Given the description of an element on the screen output the (x, y) to click on. 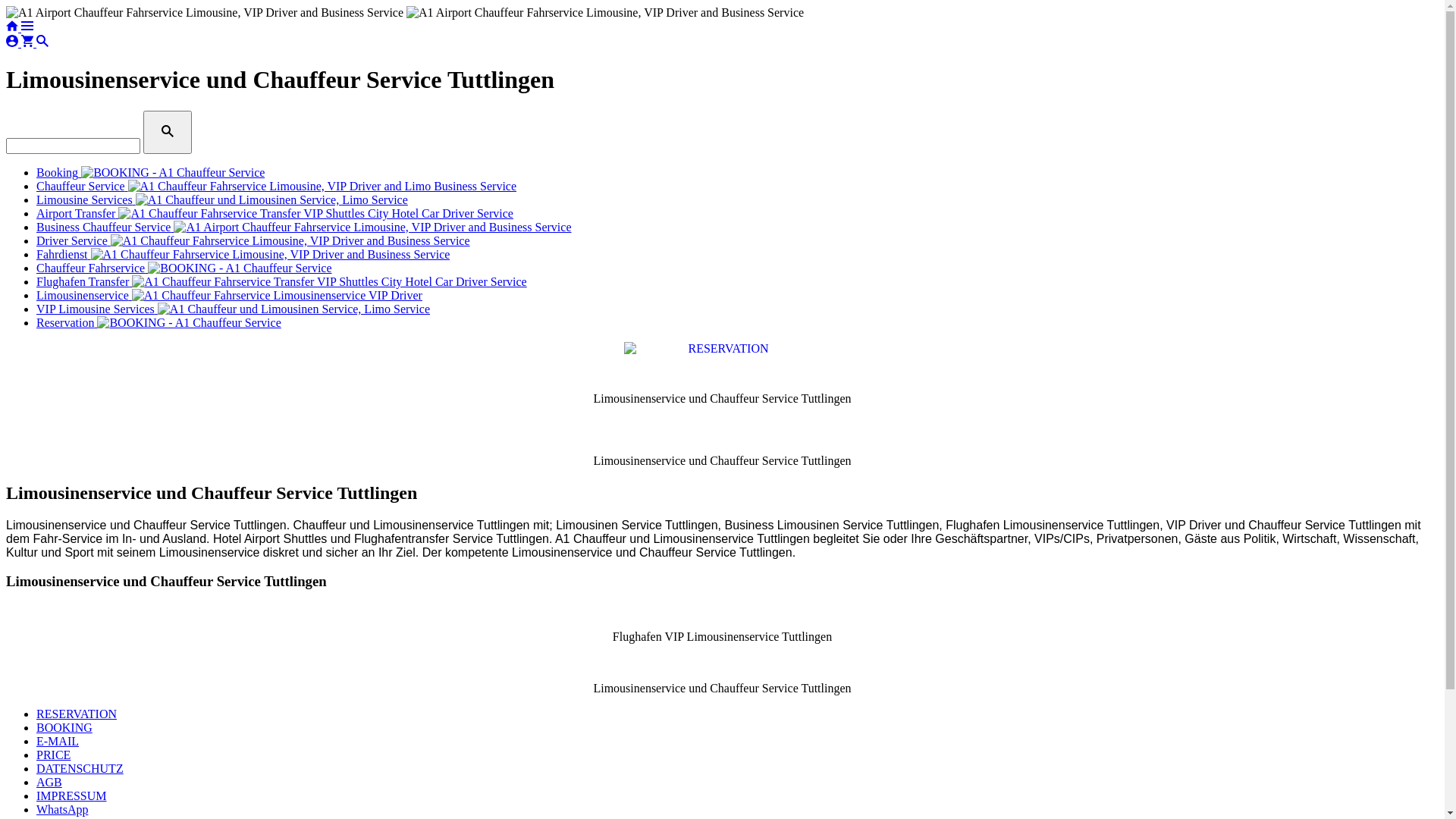
IMPRESSUM Element type: text (71, 795)
Driver Service Element type: text (253, 240)
Booking Element type: text (150, 172)
VIP Limousine Services Element type: text (232, 308)
E-MAIL Element type: text (57, 740)
WhatsApp Element type: text (61, 809)
Business Chauffeur Service Element type: text (303, 226)
Chauffeur Service Element type: text (276, 185)
PRICE Element type: text (53, 754)
Chauffeur Fahrservice Element type: text (184, 267)
Limousine Services Element type: text (221, 199)
DATENSCHUTZ Element type: text (79, 768)
BOOKING Element type: text (64, 727)
BOOKING - A1 Chauffeur Service Element type: hover (97, 661)
AGB Element type: text (49, 781)
Airport Transfer Element type: text (274, 213)
RESERVATION Element type: text (76, 713)
Fahrdienst Element type: text (242, 253)
Flughafen Transfer Element type: text (281, 281)
Limousinenservice Element type: text (229, 294)
Reservation Element type: text (158, 322)
